Given the description of an element on the screen output the (x, y) to click on. 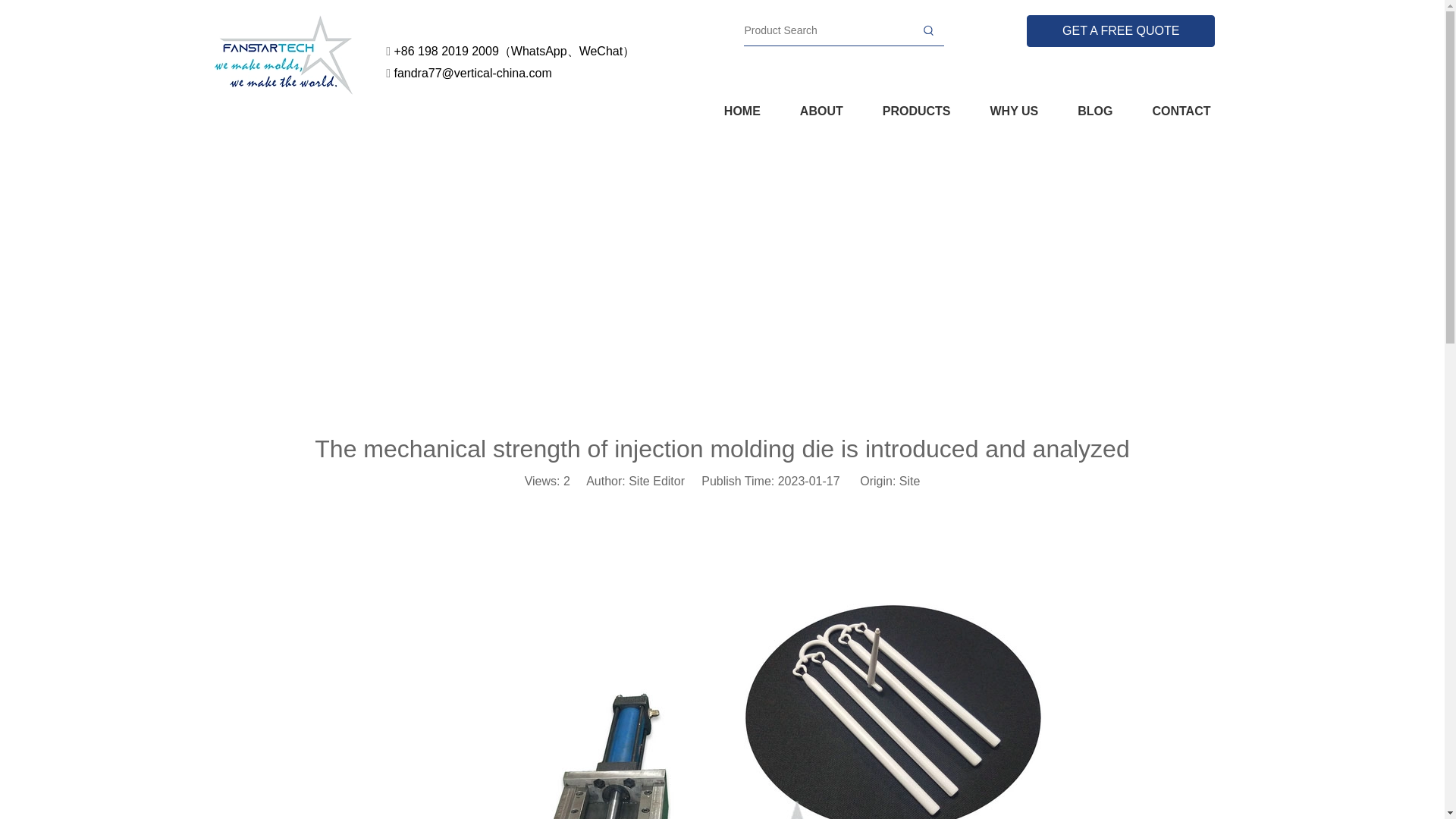
BLOG (1094, 111)
GET A FREE QUOTE (1120, 30)
CONTACT (1180, 111)
ABOUT (821, 111)
HOME (741, 111)
PRODUCTS (916, 111)
WHY US (1014, 111)
